Given the description of an element on the screen output the (x, y) to click on. 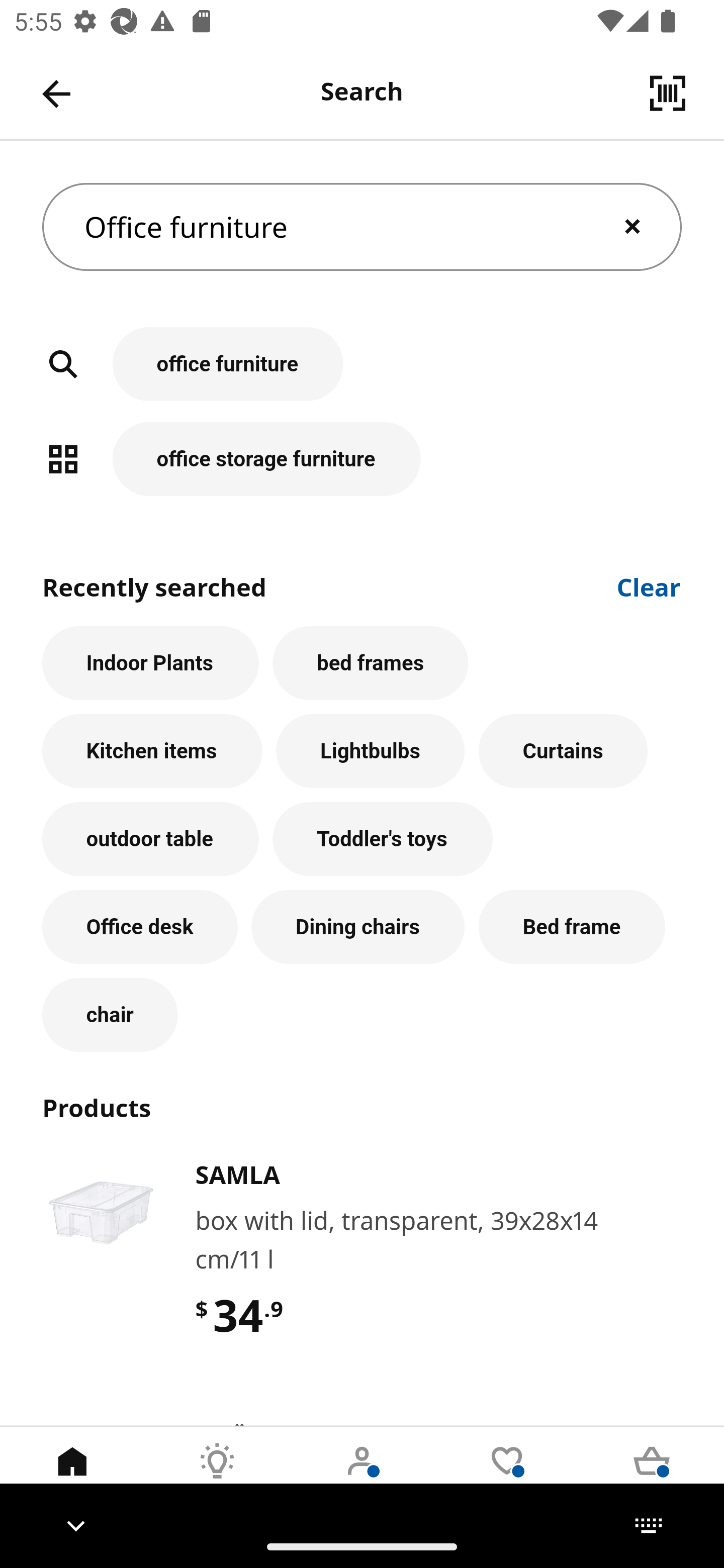
Office furniture (361, 227)
office furniture (361, 374)
office storage furniture (361, 458)
Clear (649, 585)
Indoor Plants (150, 662)
bed frames (370, 662)
Kitchen items (151, 750)
Lightbulbs (370, 750)
Curtains (562, 750)
outdoor table (150, 839)
Toddler's toys (382, 839)
Office desk (139, 927)
Dining chairs (357, 927)
Bed frame (571, 927)
chair (109, 1015)
Home
Tab 1 of 5 (72, 1476)
